Given the description of an element on the screen output the (x, y) to click on. 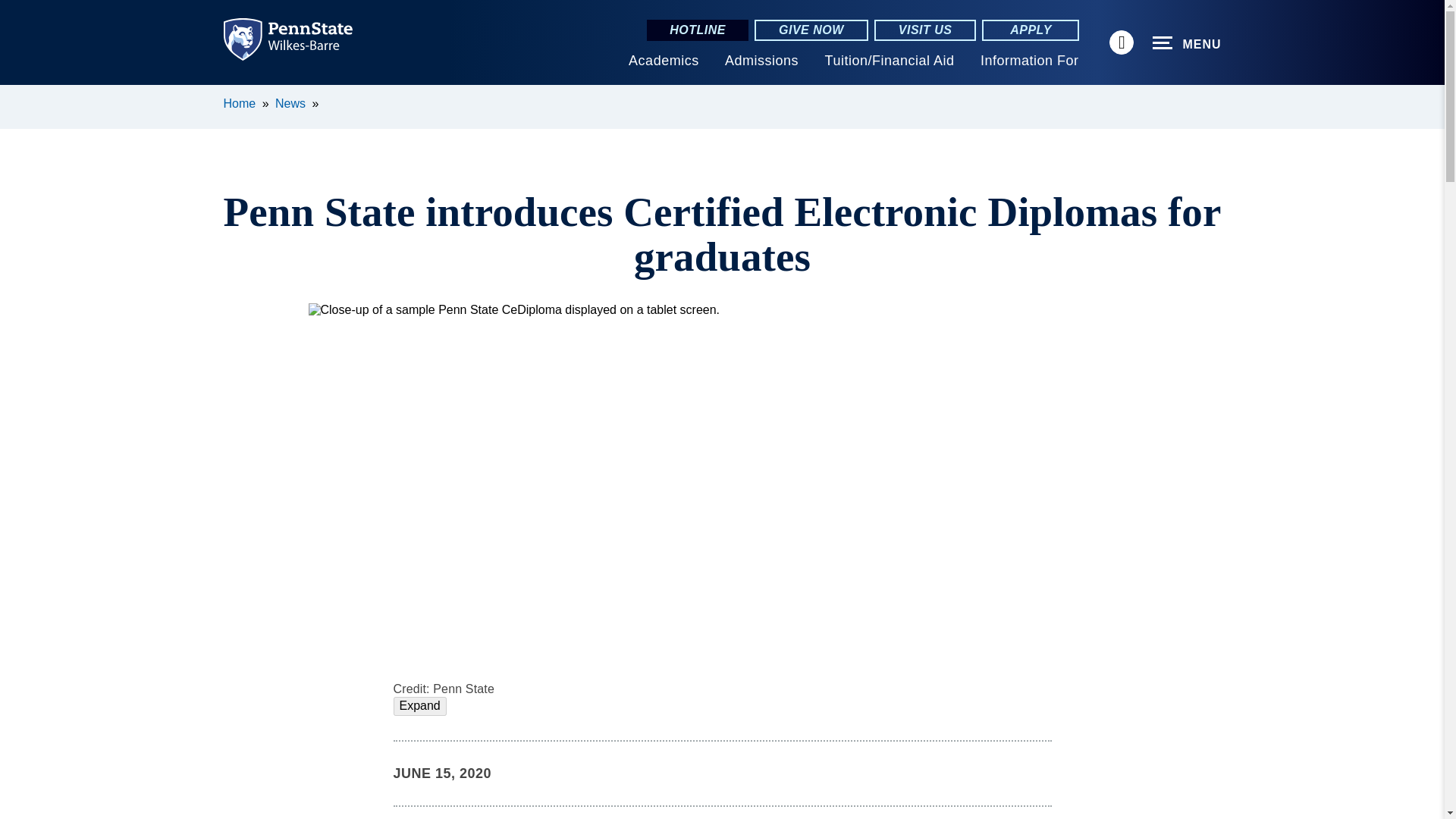
Admissions (761, 60)
GIVE NOW (810, 29)
Academics (663, 60)
HOTLINE (697, 29)
MENU (1187, 43)
VISIT US (925, 29)
APPLY (1029, 29)
Information For (1028, 60)
SKIP TO MAIN CONTENT (19, 95)
